Given the description of an element on the screen output the (x, y) to click on. 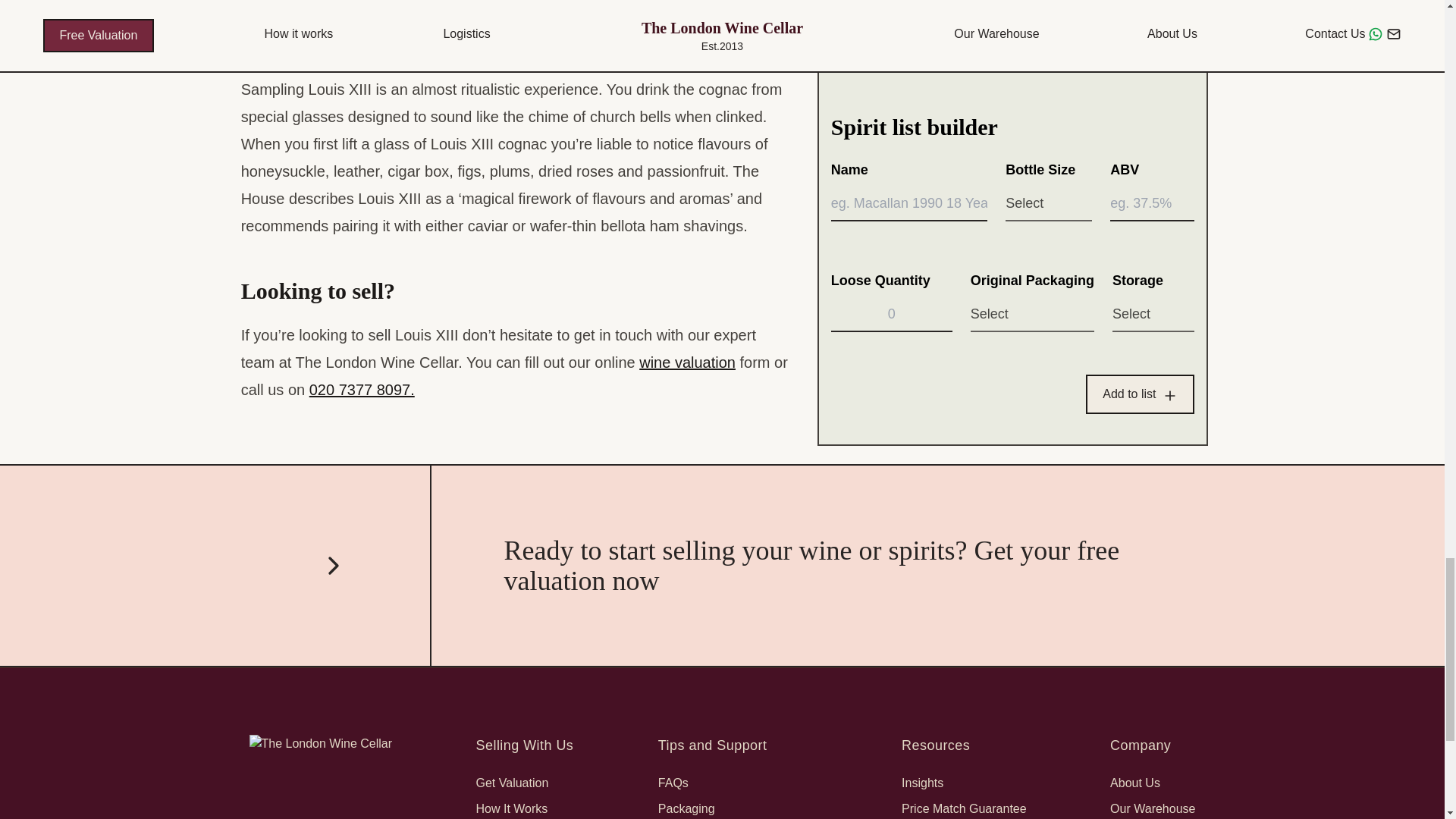
020 7377 8097. (361, 389)
Packaging (686, 809)
How It Works (512, 809)
Price Match Guarantee (963, 809)
FAQs (673, 782)
About Us (1134, 782)
Our Warehouse (1152, 809)
Get Valuation (512, 782)
wine valuation (687, 362)
